Given the description of an element on the screen output the (x, y) to click on. 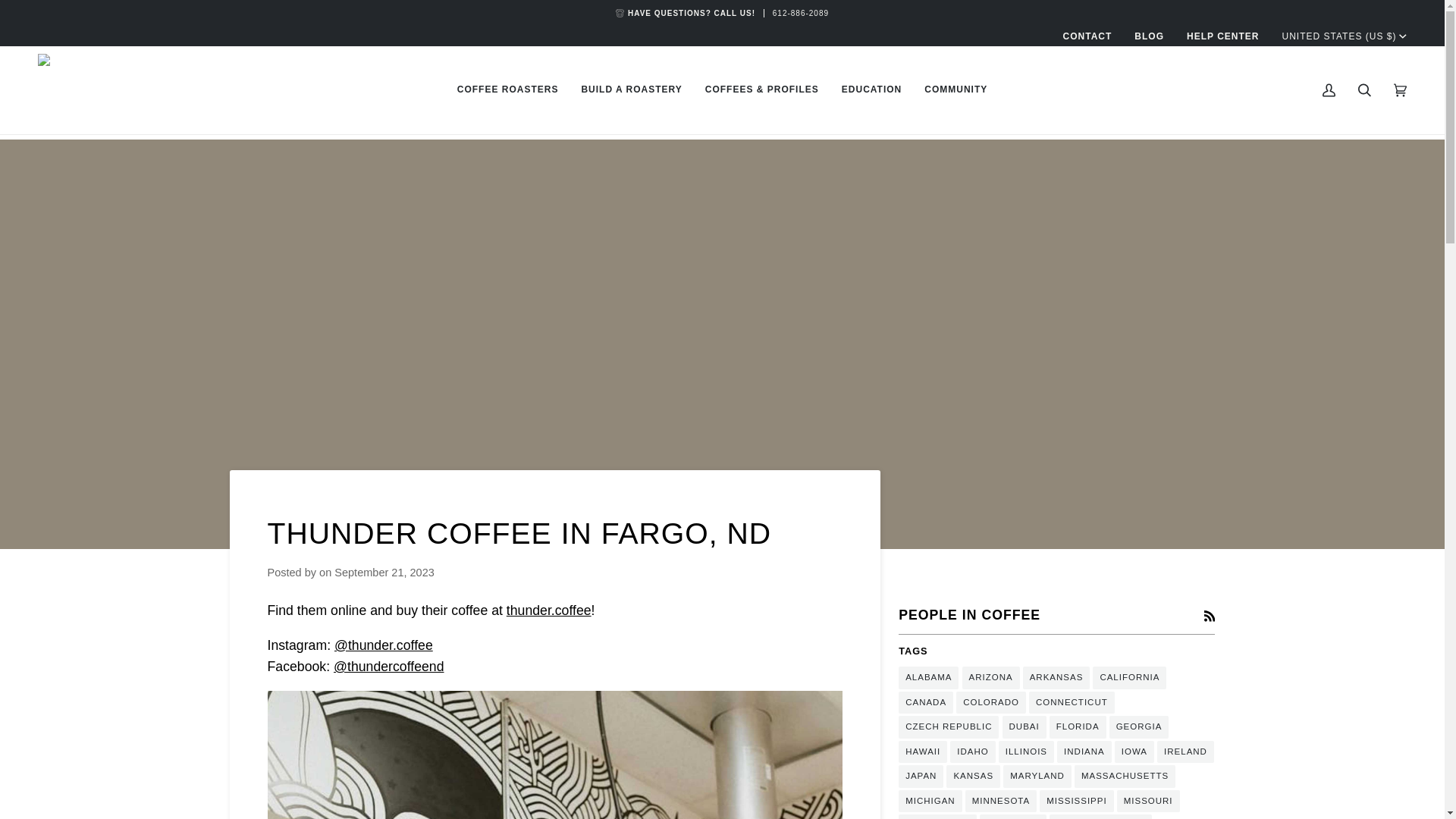
BLOG (1148, 36)
CONTACT (1087, 36)
HELP CENTER (1221, 36)
